Given the description of an element on the screen output the (x, y) to click on. 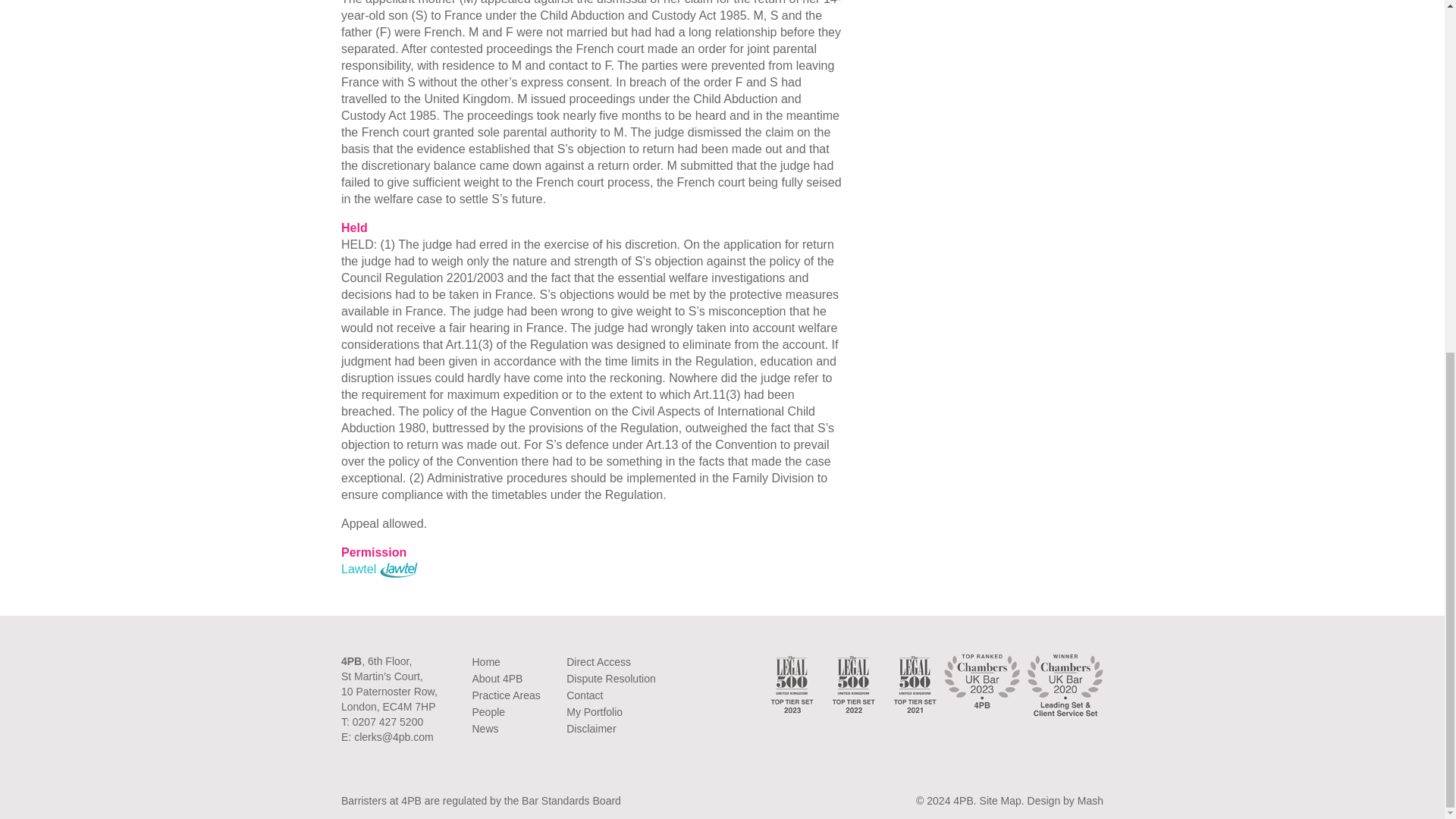
Email the Clerks (392, 736)
Site Map (1000, 800)
